Given the description of an element on the screen output the (x, y) to click on. 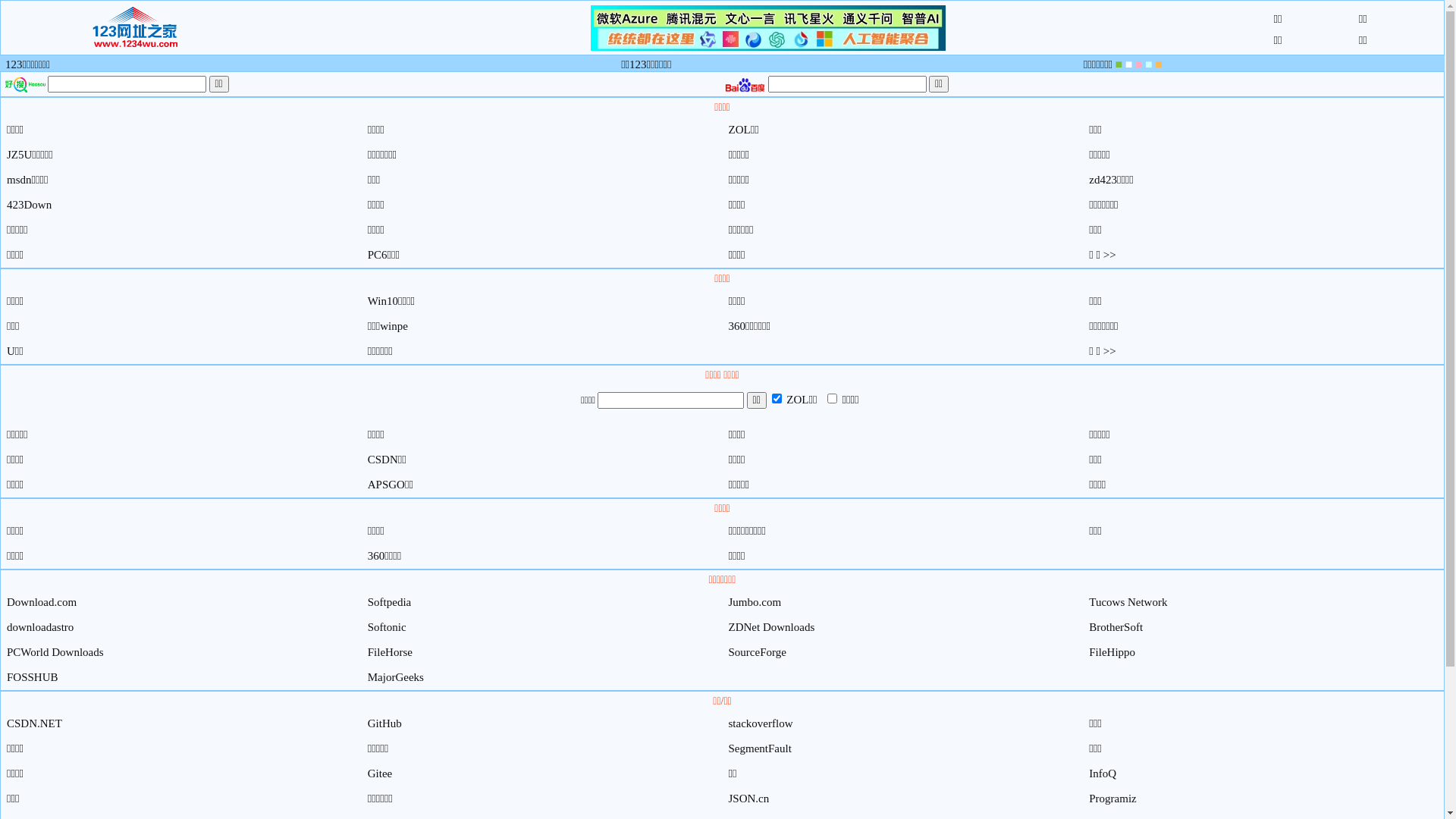
Gitee Element type: text (379, 773)
Softonic Element type: text (386, 627)
FOSSHUB Element type: text (32, 677)
Programiz Element type: text (1111, 798)
GitHub Element type: text (384, 723)
stackoverflow Element type: text (760, 723)
Download.com Element type: text (41, 602)
JSON.cn Element type: text (748, 798)
Softpedia Element type: text (389, 602)
downloadastro Element type: text (39, 627)
SegmentFault Element type: text (759, 748)
BrotherSoft Element type: text (1115, 627)
ZDNet Downloads Element type: text (771, 627)
PCWorld Downloads Element type: text (54, 652)
423Down Element type: text (28, 204)
FileHippo Element type: text (1111, 652)
MajorGeeks Element type: text (395, 677)
CSDN.NET Element type: text (34, 723)
Tucows Network Element type: text (1127, 602)
SourceForge Element type: text (756, 652)
FileHorse Element type: text (389, 652)
InfoQ Element type: text (1102, 773)
Jumbo.com Element type: text (754, 602)
